Given the description of an element on the screen output the (x, y) to click on. 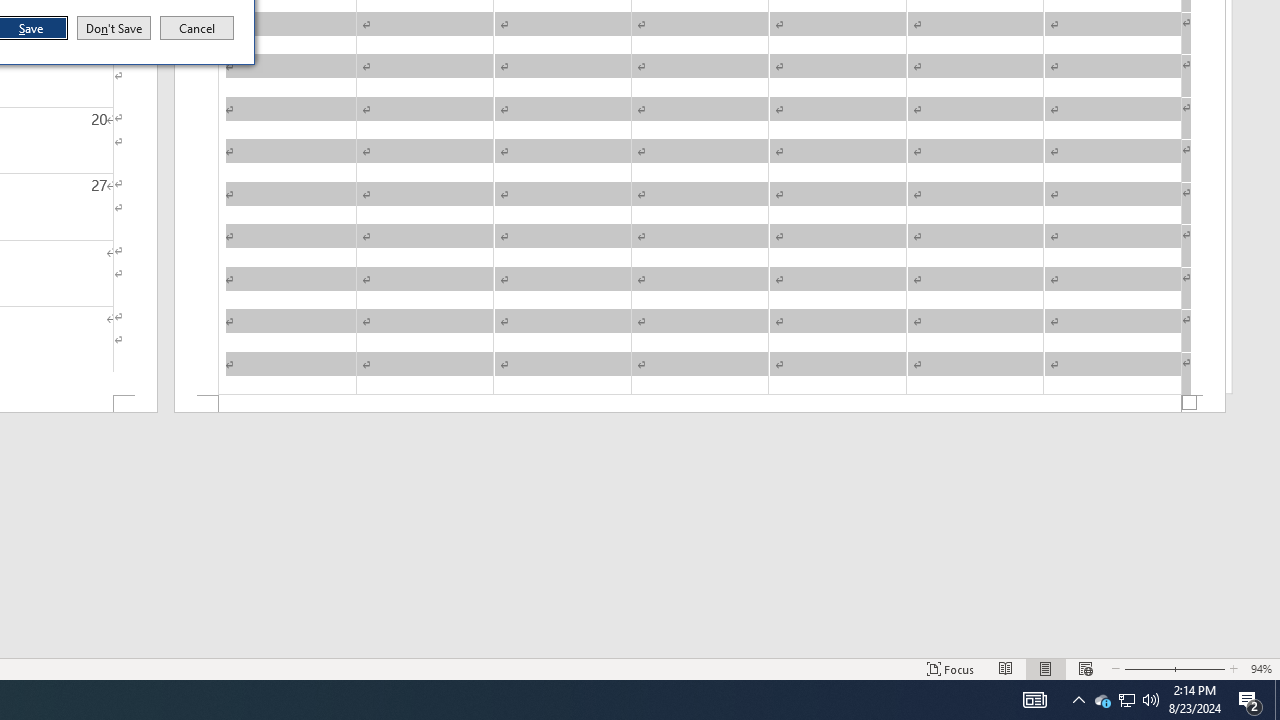
Notification Chevron (1078, 699)
